Given the description of an element on the screen output the (x, y) to click on. 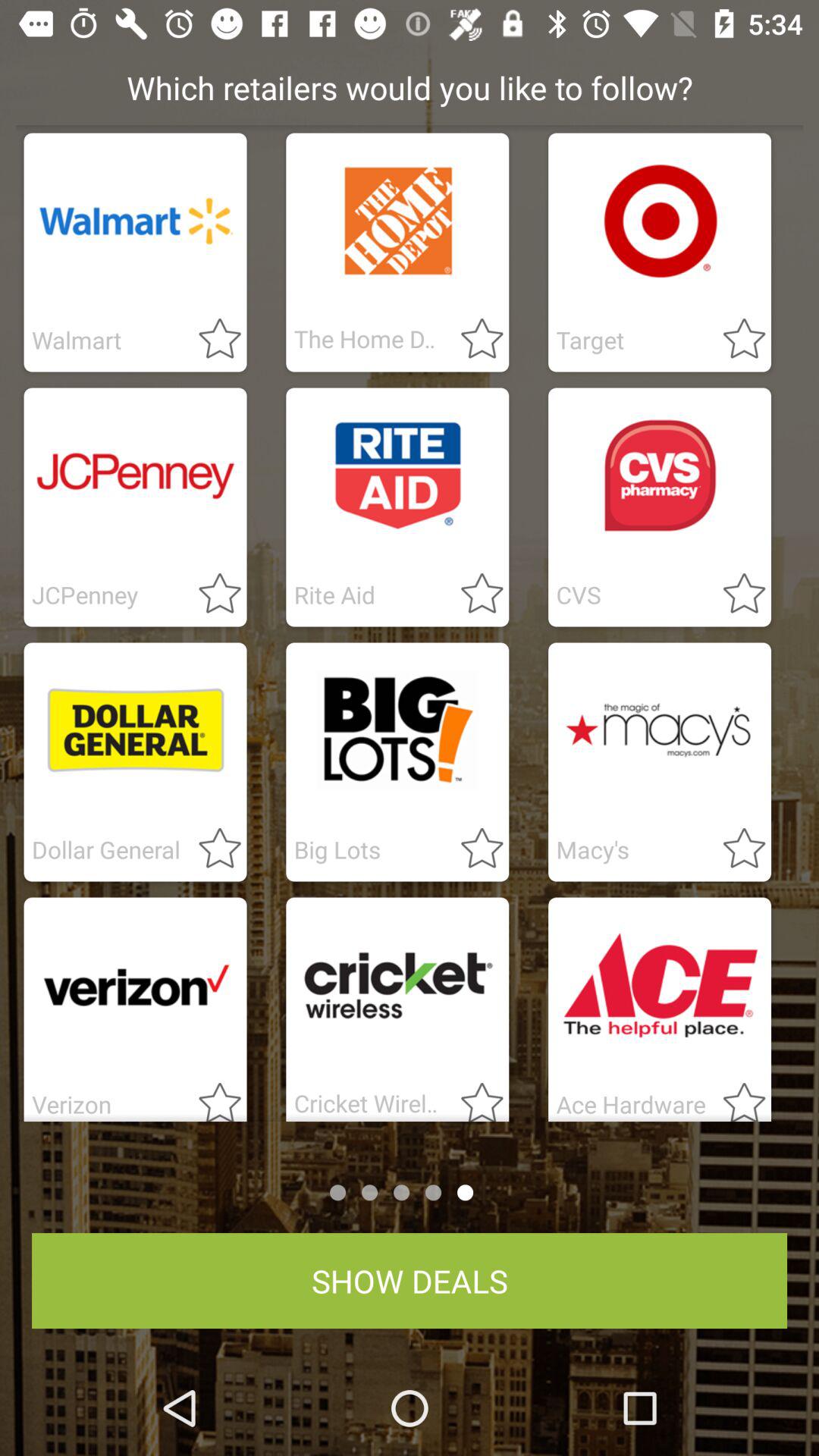
launch the show deals item (409, 1280)
